Given the description of an element on the screen output the (x, y) to click on. 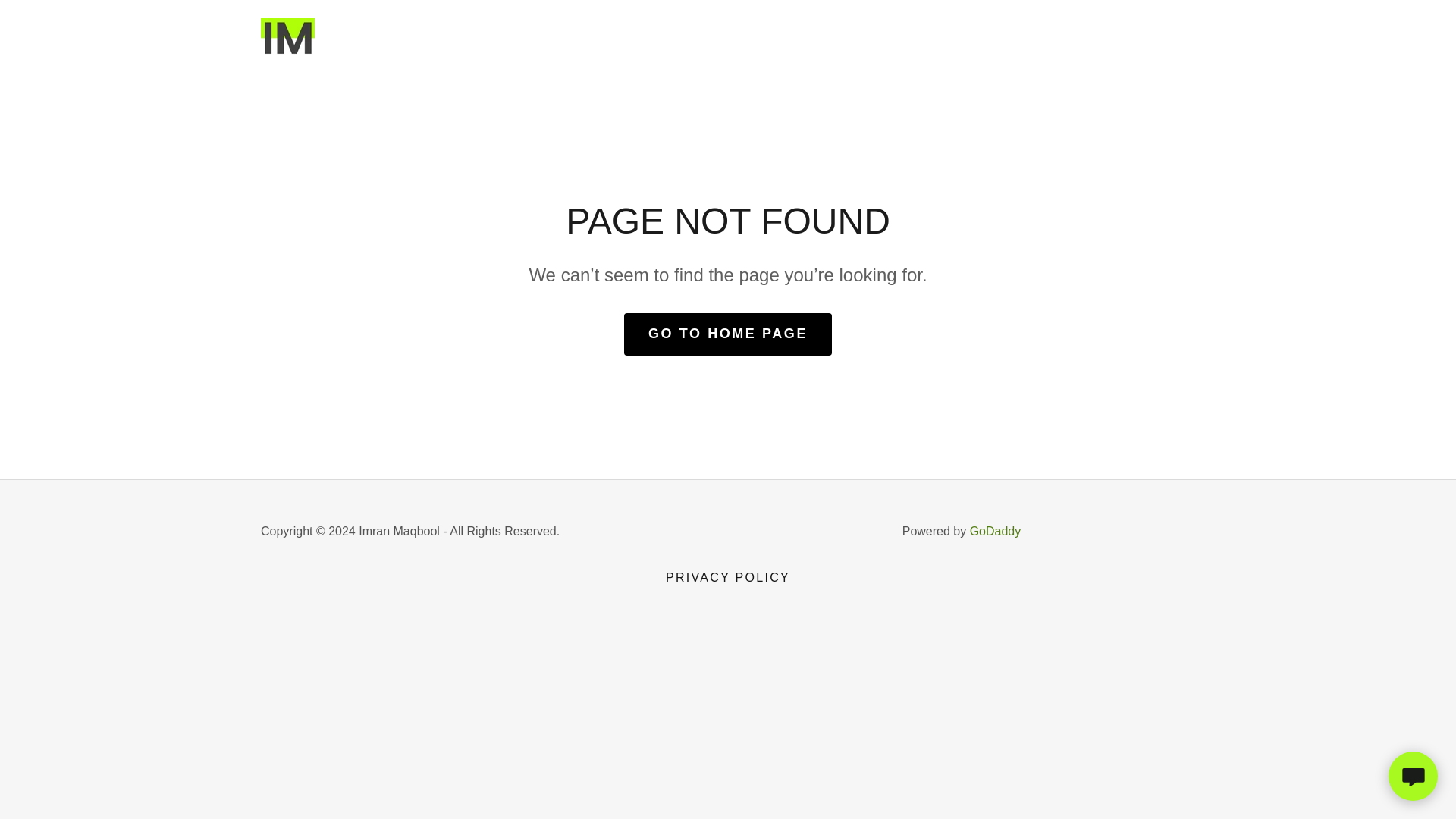
PRIVACY POLICY (727, 577)
GoDaddy (995, 530)
GO TO HOME PAGE (727, 333)
Imran Maqbool (287, 37)
